Given the description of an element on the screen output the (x, y) to click on. 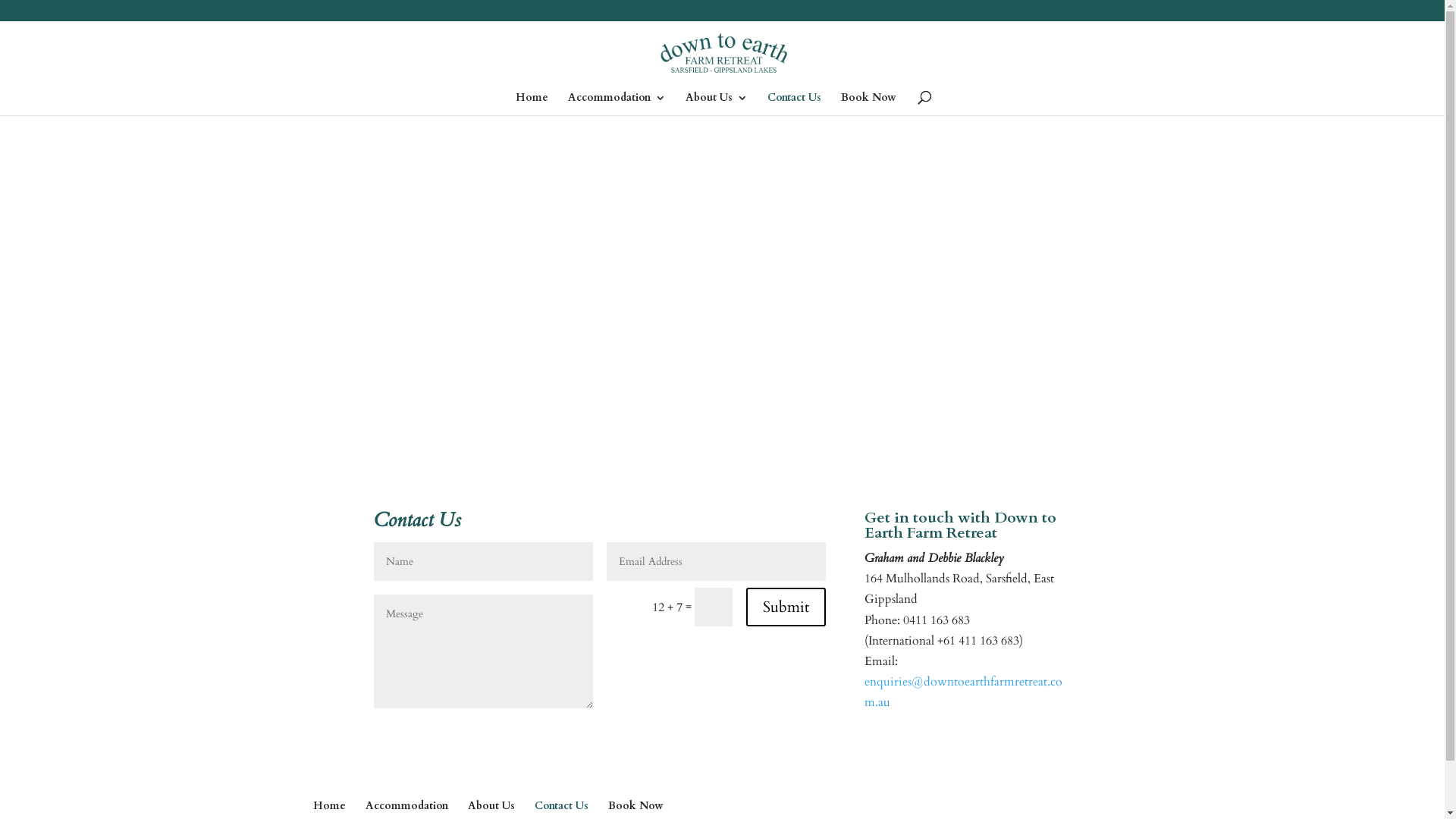
enquiries@downtoearthfarmretreat.com.au Element type: text (963, 691)
Contact Us Element type: text (794, 103)
About Us Element type: text (490, 805)
Accommodation Element type: text (616, 103)
Contact Us Element type: text (560, 805)
Submit Element type: text (785, 606)
Home Element type: text (531, 103)
About Us Element type: text (716, 103)
Home Element type: text (328, 805)
Book Now Element type: text (635, 805)
Accommodation Element type: text (406, 805)
Book Now Element type: text (867, 103)
